Given the description of an element on the screen output the (x, y) to click on. 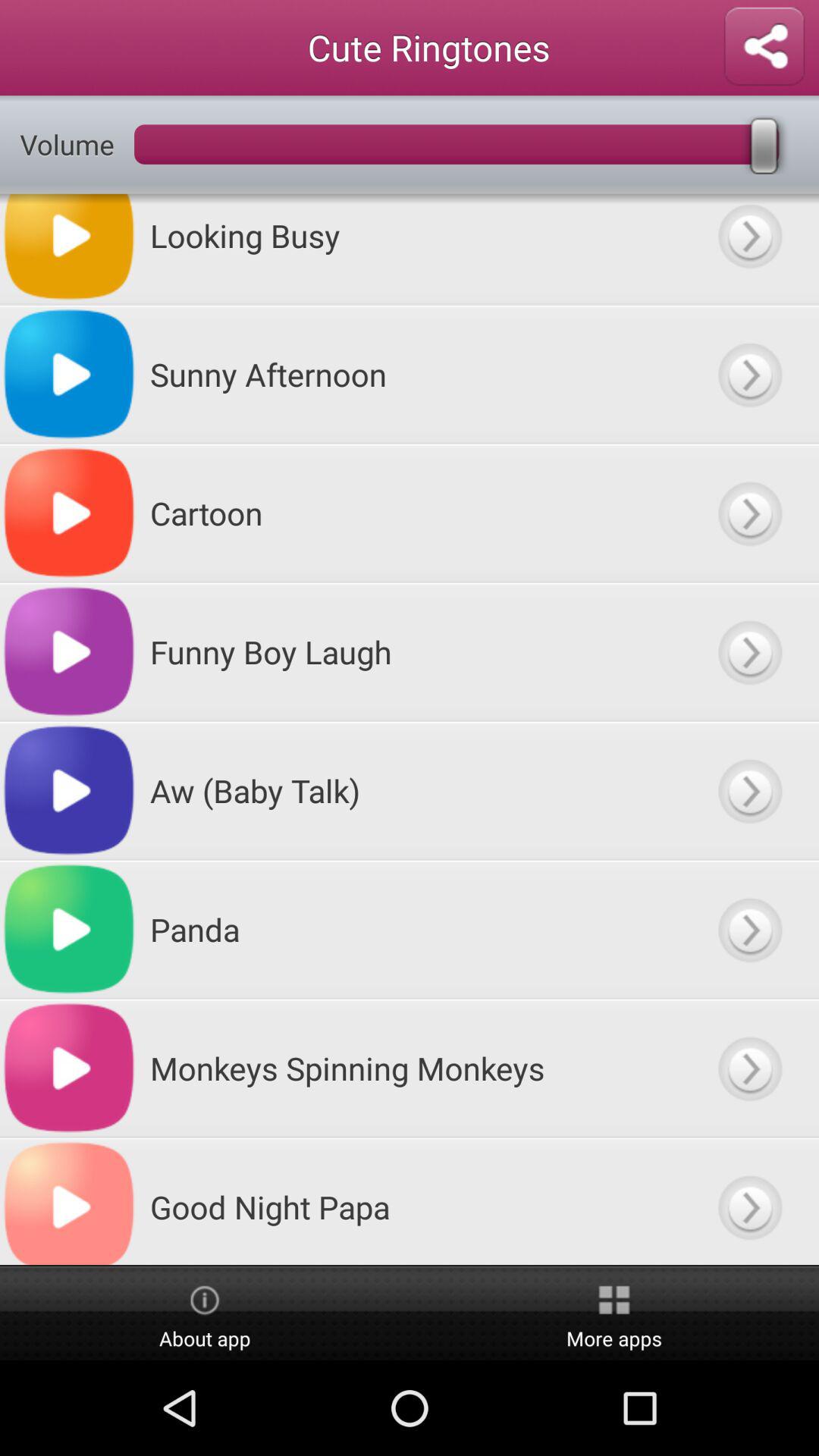
share the fill in seen (764, 47)
